Given the description of an element on the screen output the (x, y) to click on. 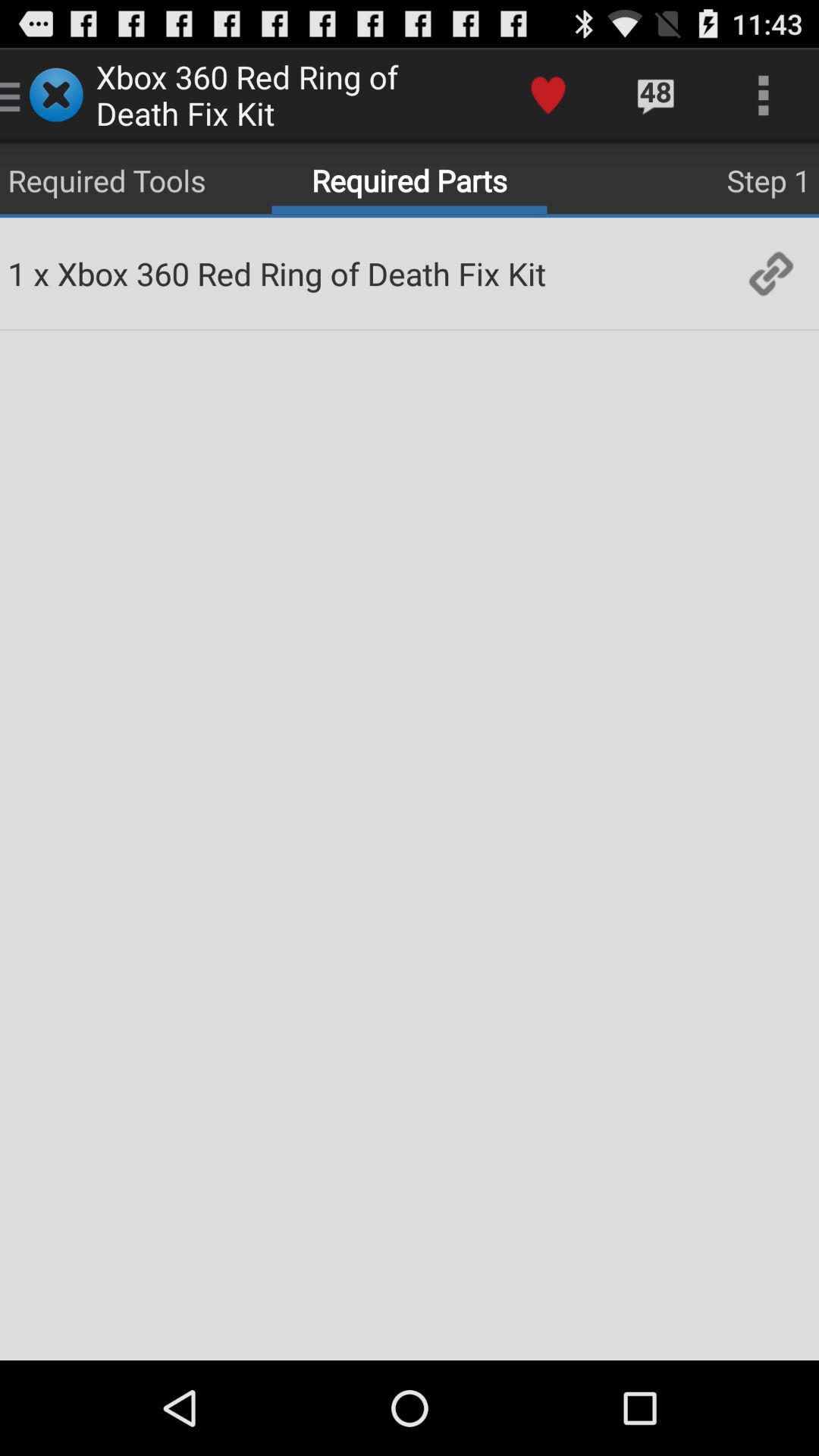
choose item to the left of the xbox 360 red item (41, 273)
